Given the description of an element on the screen output the (x, y) to click on. 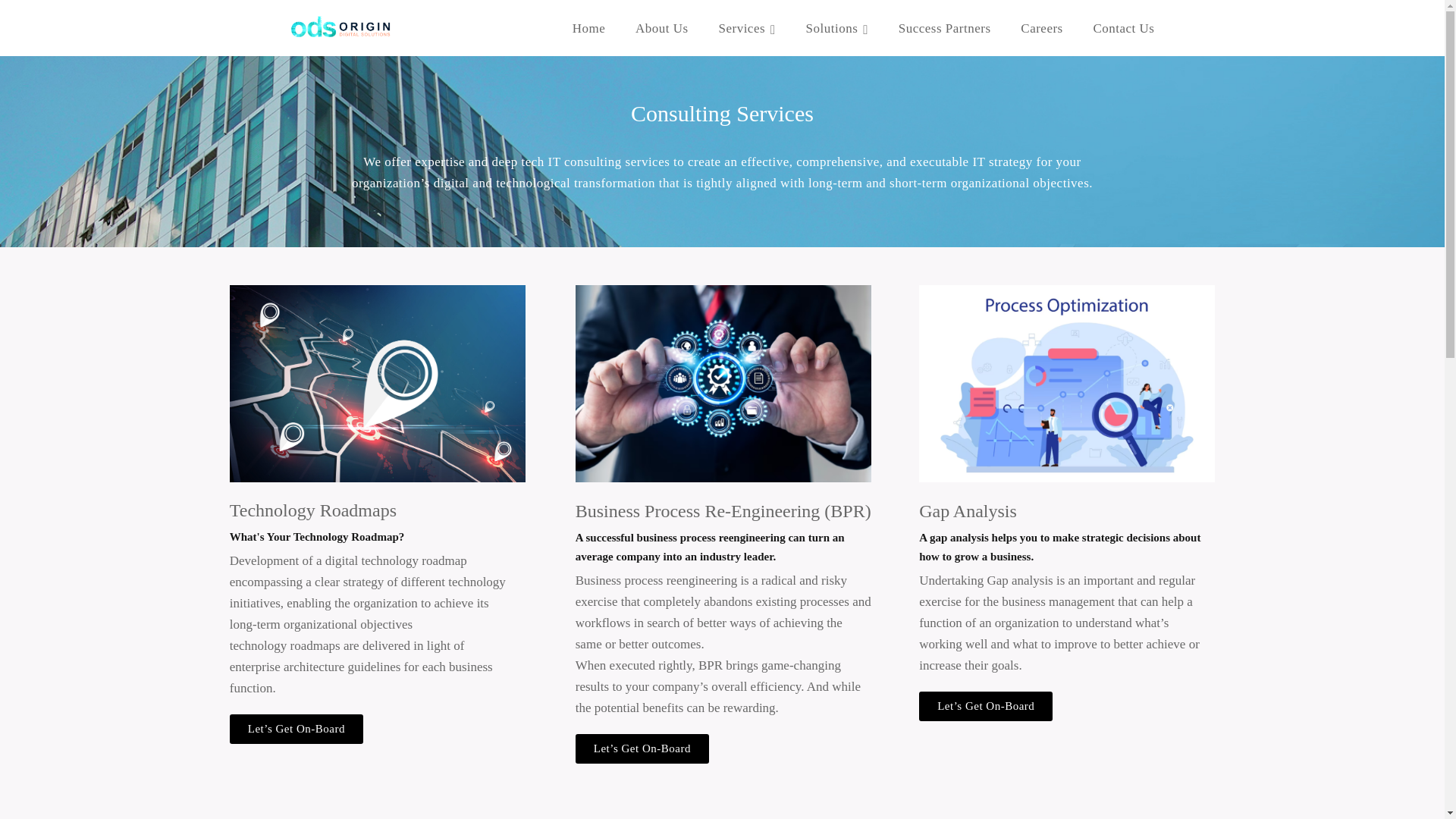
Home (588, 30)
Services (745, 30)
Success Partners (944, 30)
Solutions (836, 30)
Careers (1041, 30)
Contact Us (1123, 30)
About Us (661, 30)
